Given the description of an element on the screen output the (x, y) to click on. 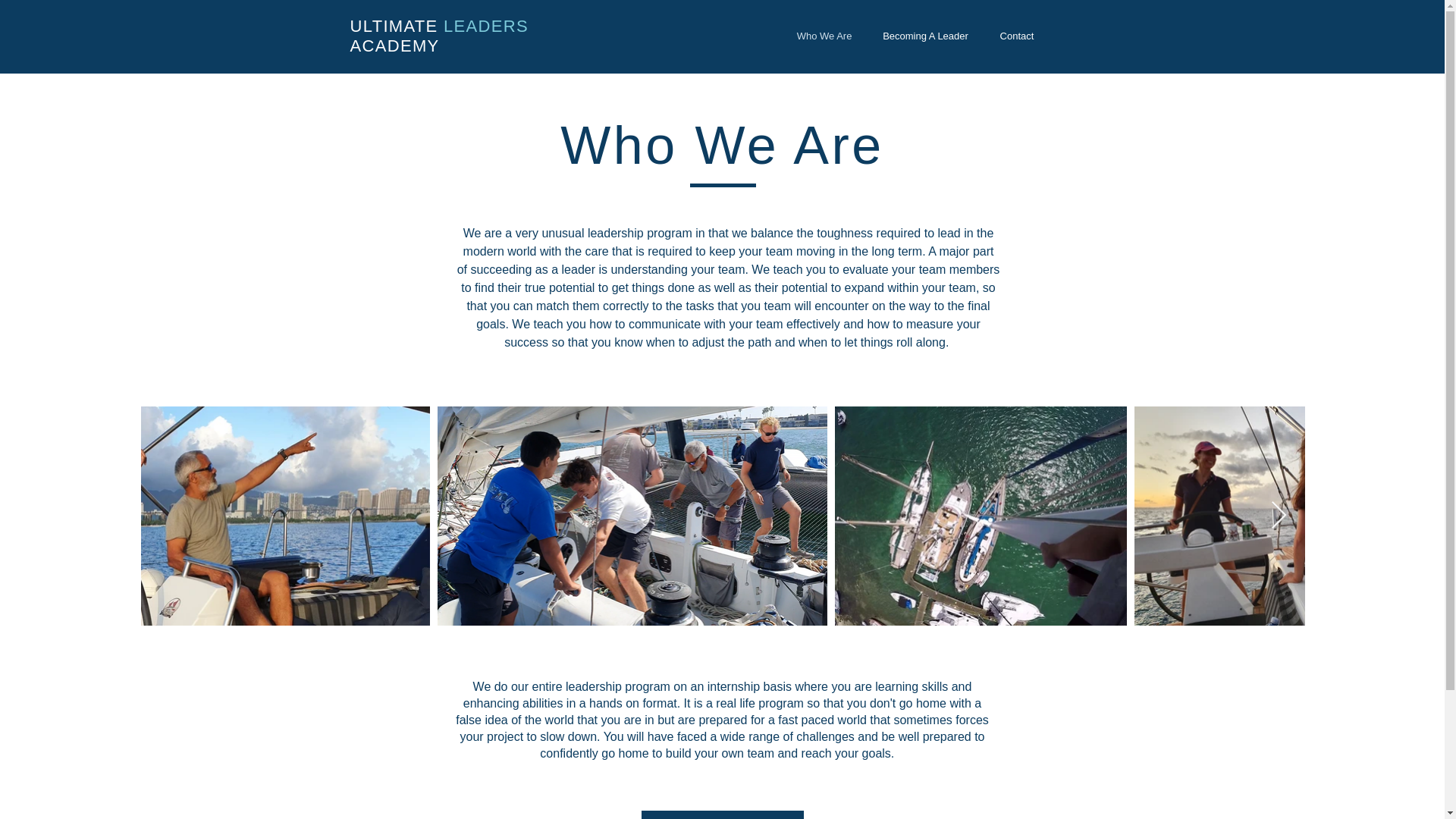
ULTIMATE LEADERS ACADEMY (439, 35)
Click now to take the first step (722, 814)
Contact (1016, 36)
Becoming A Leader (925, 36)
Who We Are (823, 36)
